Given the description of an element on the screen output the (x, y) to click on. 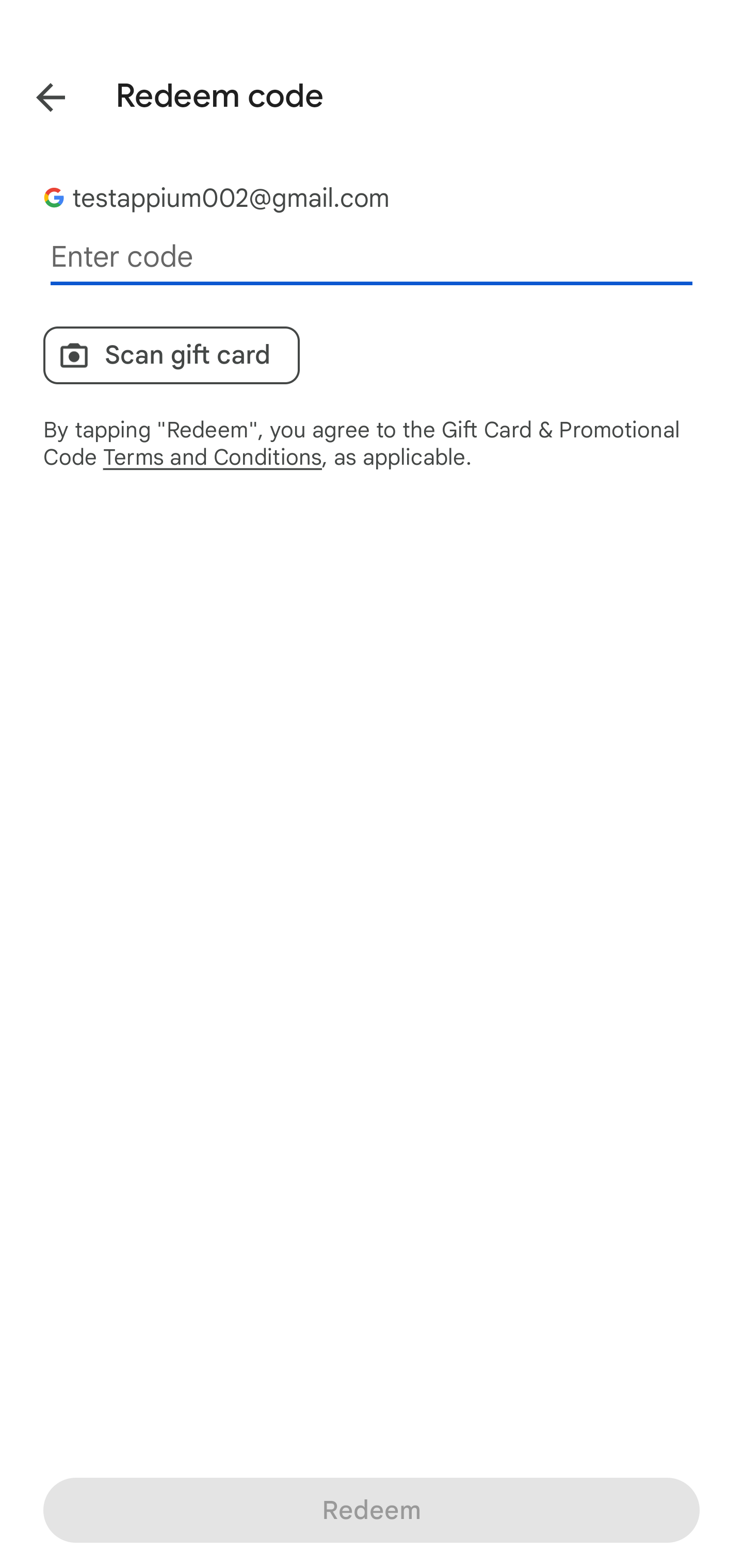
Back (36, 94)
Enter code (371, 256)
Scan gift card (171, 355)
